Given the description of an element on the screen output the (x, y) to click on. 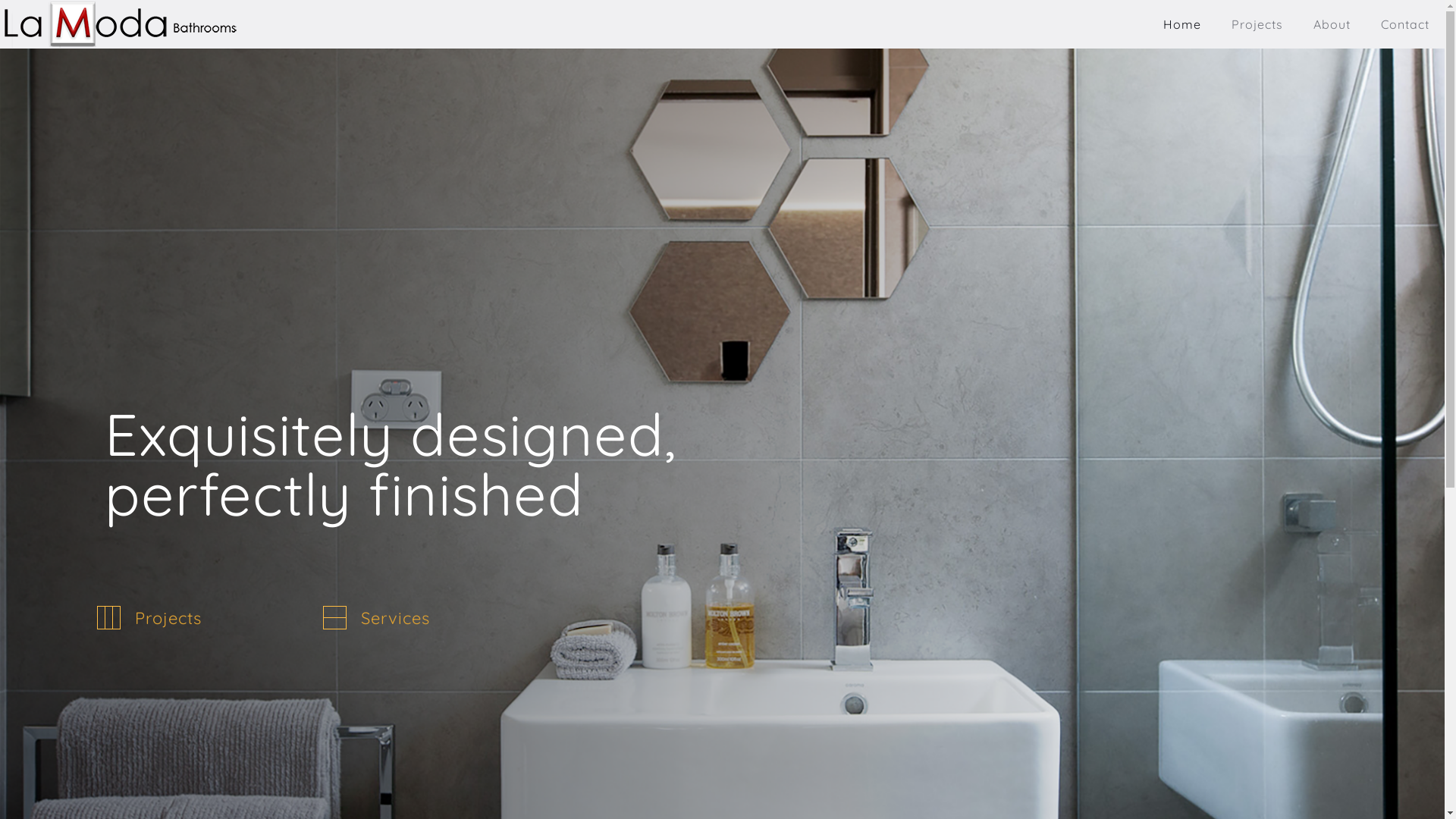
About Element type: text (1331, 23)
Contact Element type: text (1404, 23)
Projects Element type: text (167, 617)
Projects Element type: text (1257, 23)
Home Element type: text (1182, 23)
Services Element type: text (394, 617)
La Moda Bathrooms Element type: hover (119, 23)
